Given the description of an element on the screen output the (x, y) to click on. 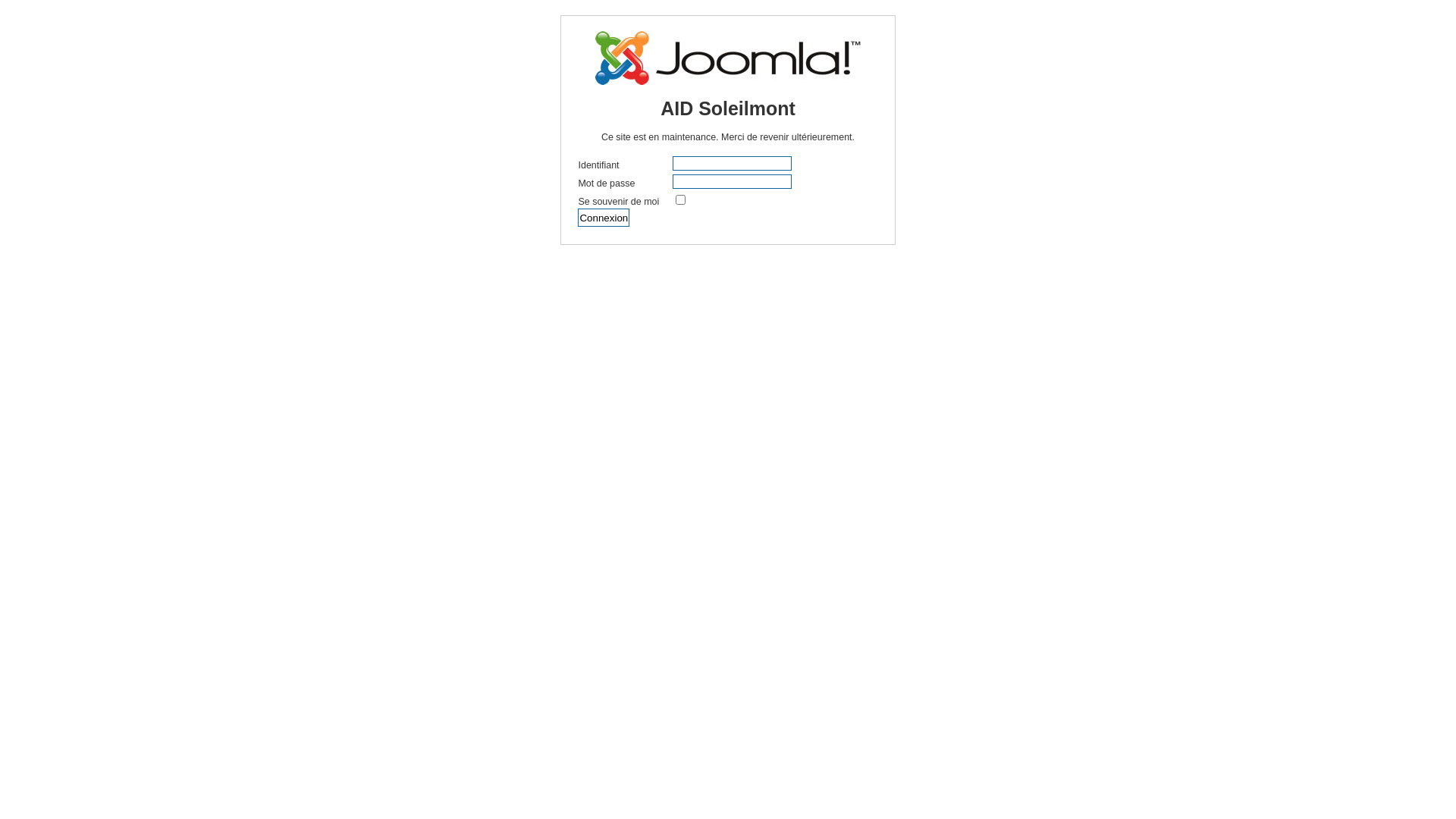
Connexion Element type: text (603, 217)
